Given the description of an element on the screen output the (x, y) to click on. 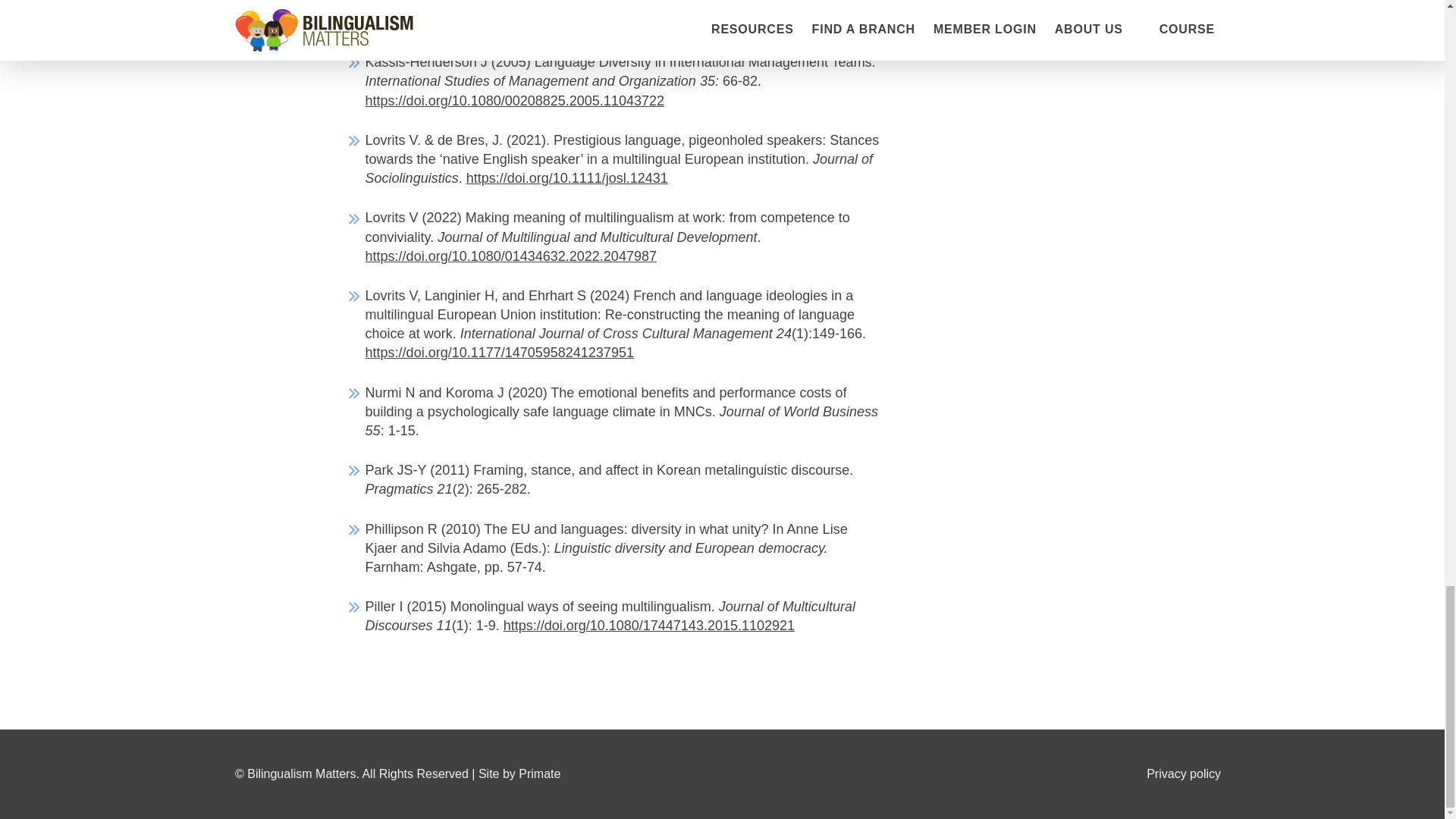
Primate (539, 773)
Privacy policy (1184, 773)
